Given the description of an element on the screen output the (x, y) to click on. 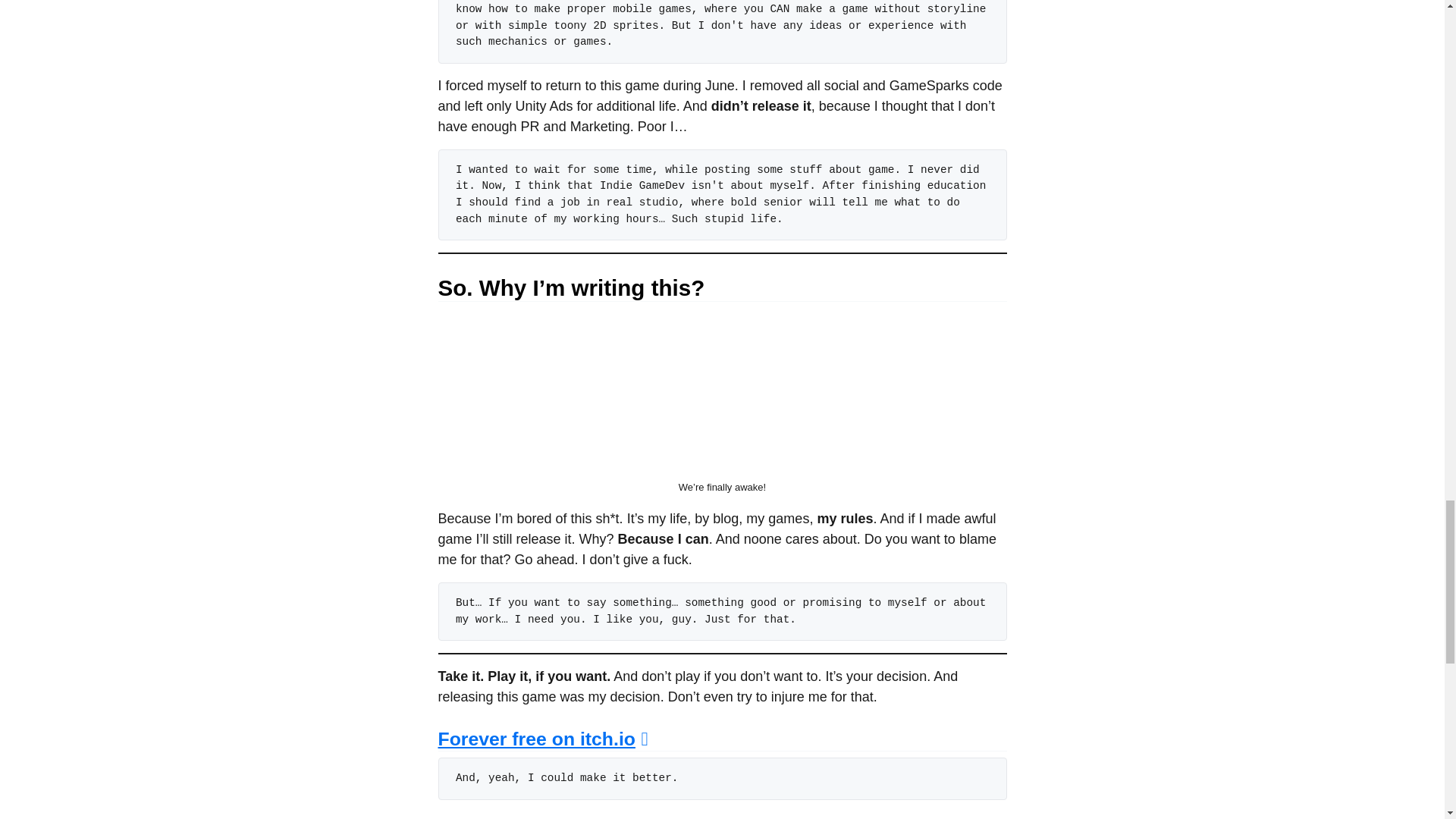
Forever free on itch.io (542, 738)
Forever free on itch.io (542, 738)
